Given the description of an element on the screen output the (x, y) to click on. 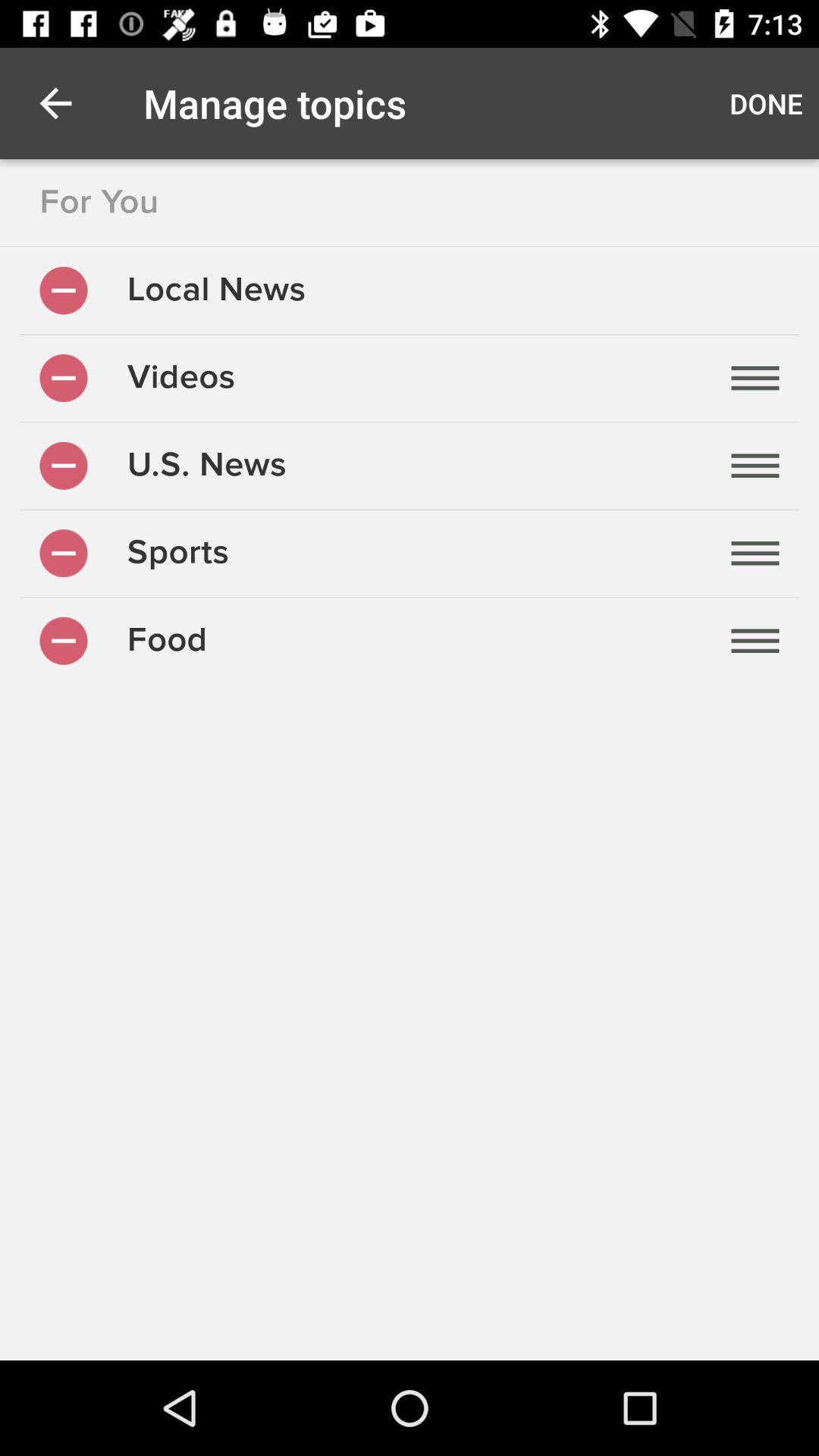
click the icon to the right of manage topics icon (766, 103)
